Given the description of an element on the screen output the (x, y) to click on. 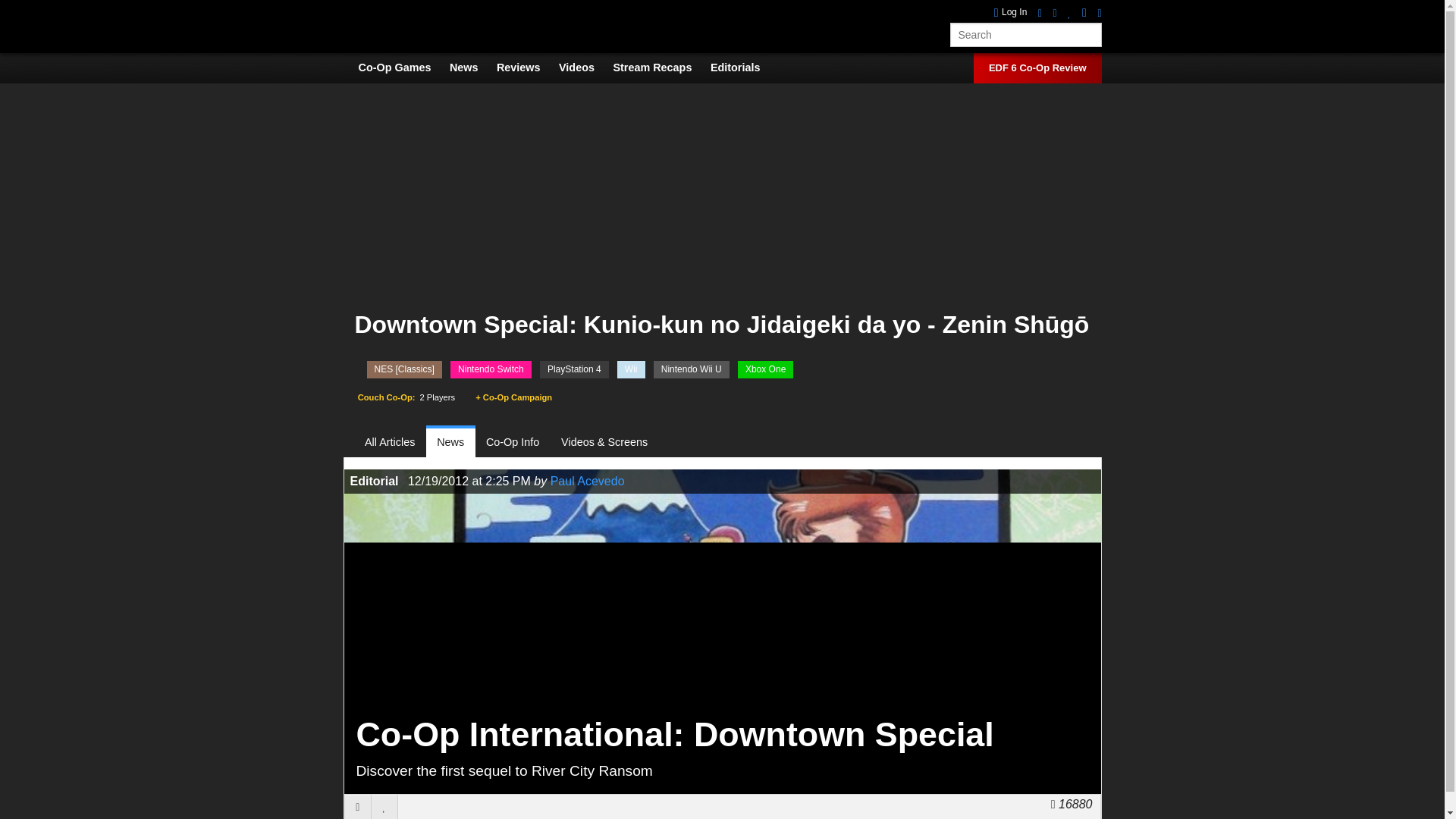
login (1010, 11)
Wii (631, 369)
Reviews (526, 67)
Nintendo Wii U (691, 369)
Co-Op Games (401, 67)
Xbox One (765, 369)
Nintendo Switch (490, 369)
Editorials (743, 67)
Weekly Video Streams and VODs from Co-Optimus (659, 67)
 Log In (1010, 11)
